Given the description of an element on the screen output the (x, y) to click on. 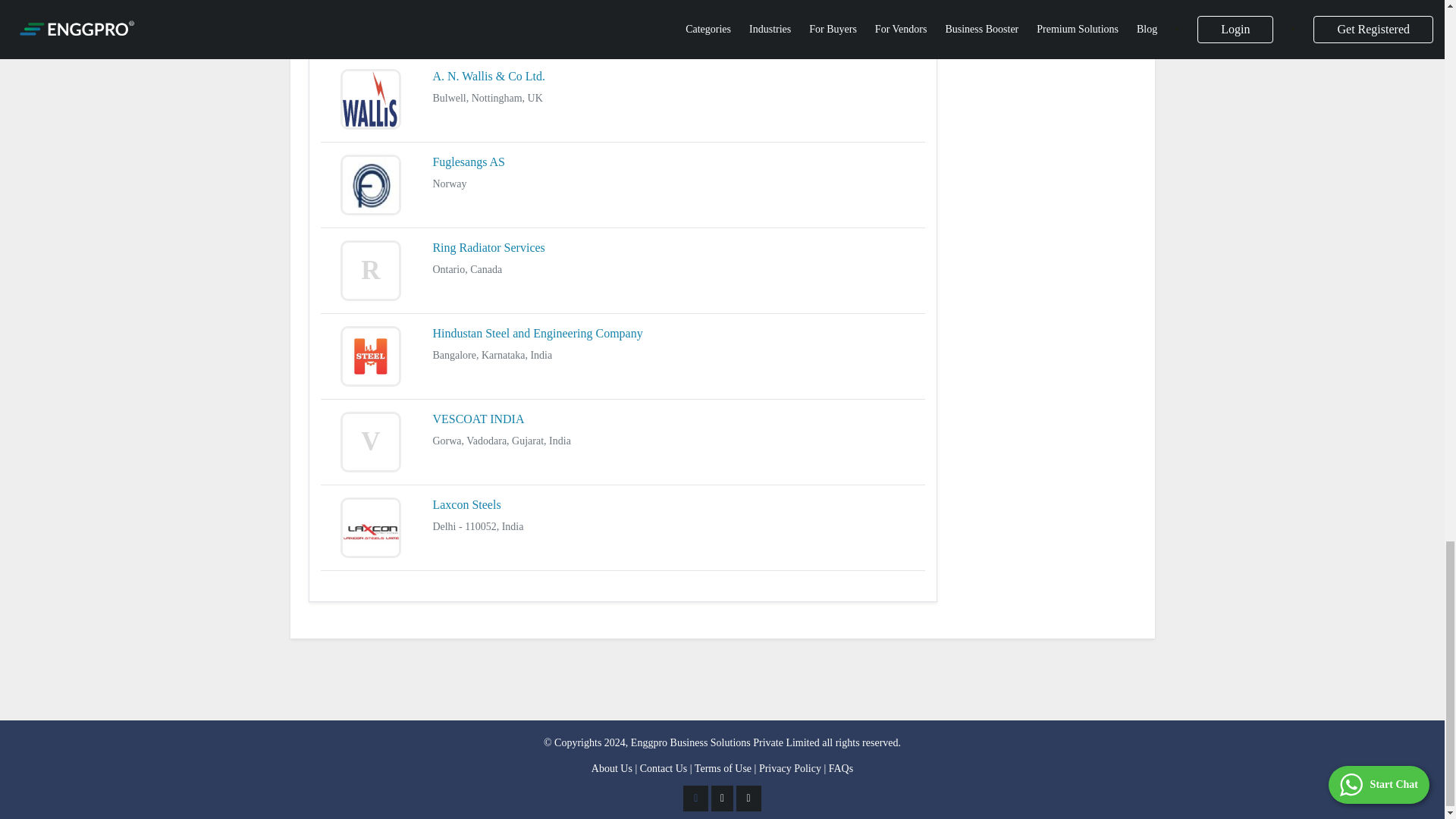
R (370, 270)
Ring Radiator Services (488, 246)
Hindustan Steel and Engineering Company (537, 332)
VESCOAT INDIA (478, 418)
R (370, 22)
Fuglesangs AS (468, 161)
V (370, 441)
